Given the description of an element on the screen output the (x, y) to click on. 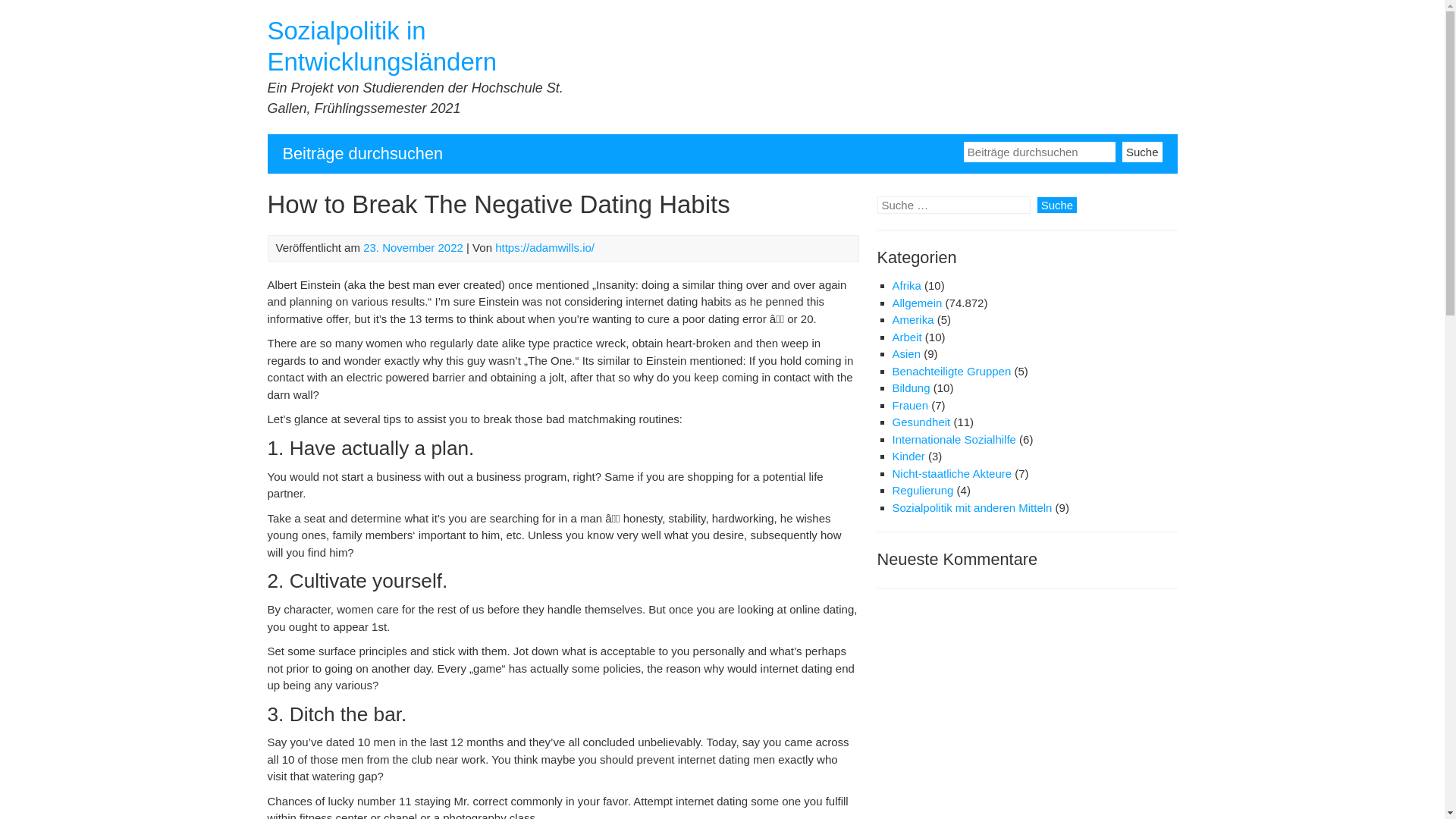
Benachteiligte Gruppen (950, 370)
Arbeit (906, 336)
Suche (1056, 204)
Asien (905, 353)
Sozialpolitik mit anderen Mitteln (971, 507)
Bildung (910, 387)
Allgemein (916, 302)
23. November 2022 (412, 246)
Internationale Sozialhilfe (952, 439)
Suche (1056, 204)
Suche (1056, 204)
Suche (1141, 150)
Regulierung (922, 490)
Nicht-staatliche Akteure (951, 472)
Kinder (907, 455)
